Given the description of an element on the screen output the (x, y) to click on. 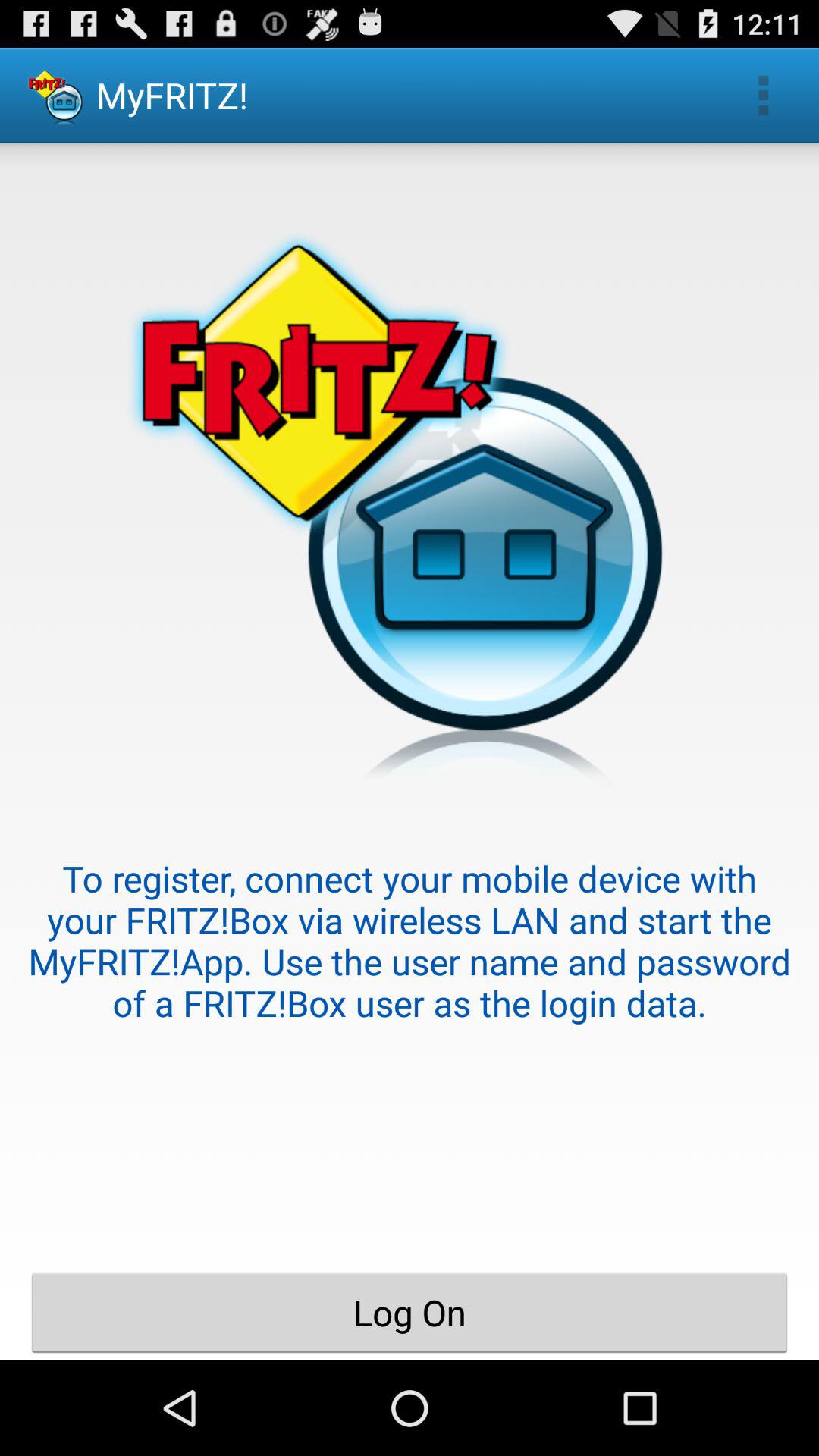
flip to log on item (409, 1312)
